Given the description of an element on the screen output the (x, y) to click on. 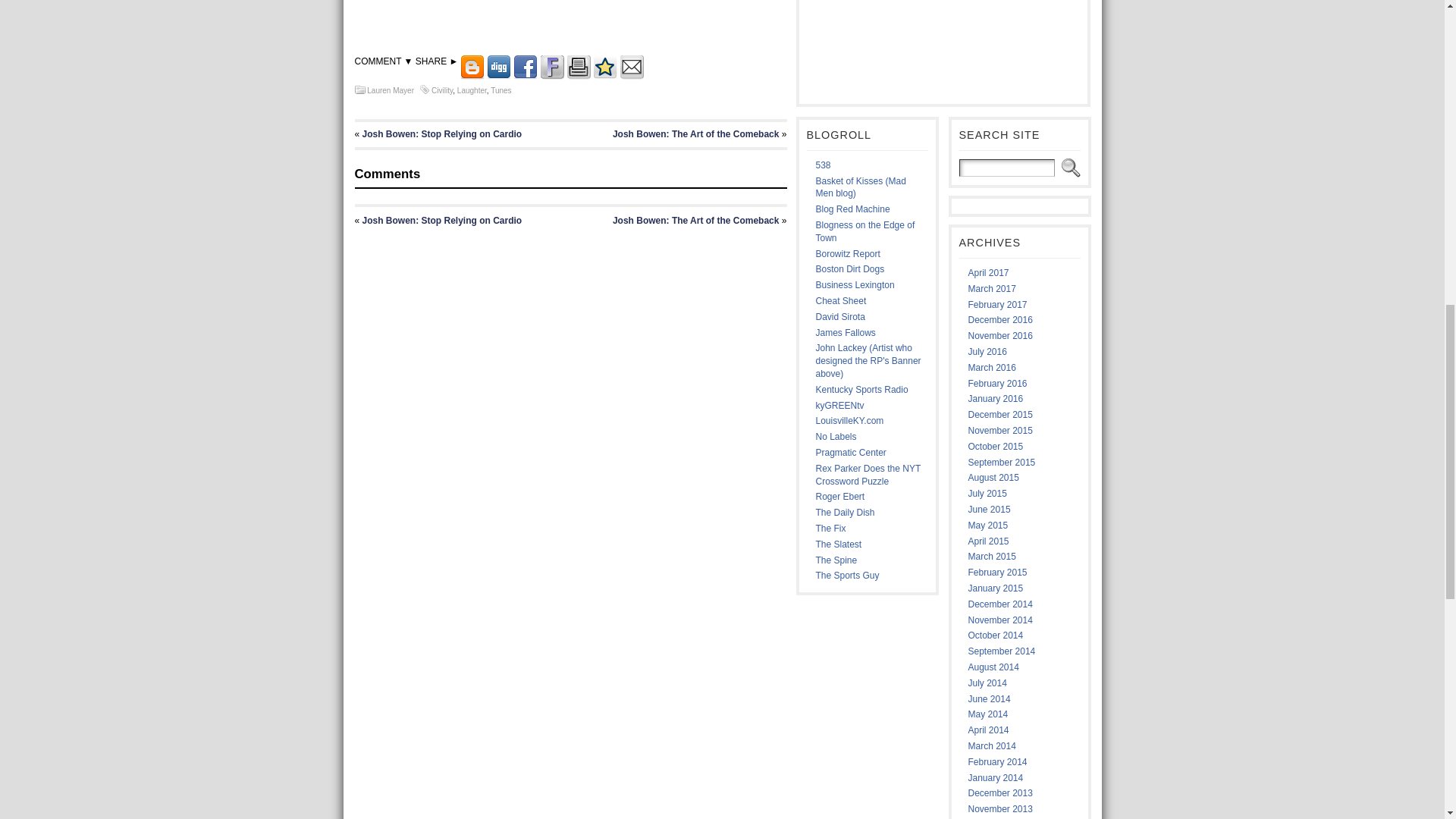
The Pragmatic Center (850, 452)
Digg this post : Lauren Mayer: First Name Celebrity (498, 76)
Search (1068, 167)
Bookmark this post : Lauren Mayer: First Name Celebrity (604, 76)
The Pulse of the City (849, 420)
Share this post : Lauren Mayer: First Name Celebrity on fark (552, 76)
